Given the description of an element on the screen output the (x, y) to click on. 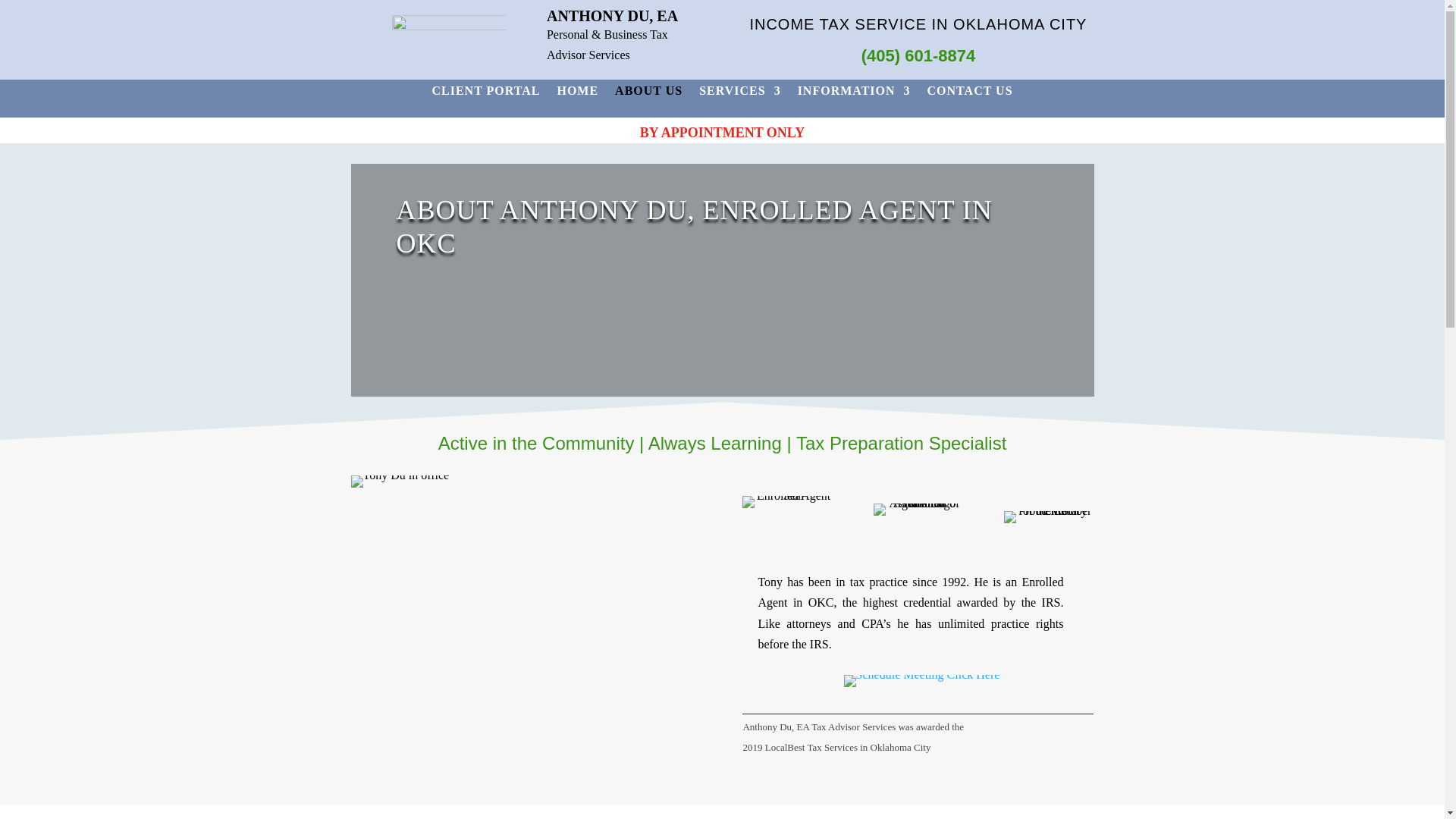
schedcal200 (922, 680)
rotaryproudmemberlg60 (1048, 517)
SERVICES (739, 93)
HOME (577, 93)
ABOUT US (648, 93)
naea (917, 509)
ea2 (786, 501)
CLIENT PORTAL (485, 93)
ADTax-Logo-Only1c (448, 33)
INFORMATION (854, 93)
